Given the description of an element on the screen output the (x, y) to click on. 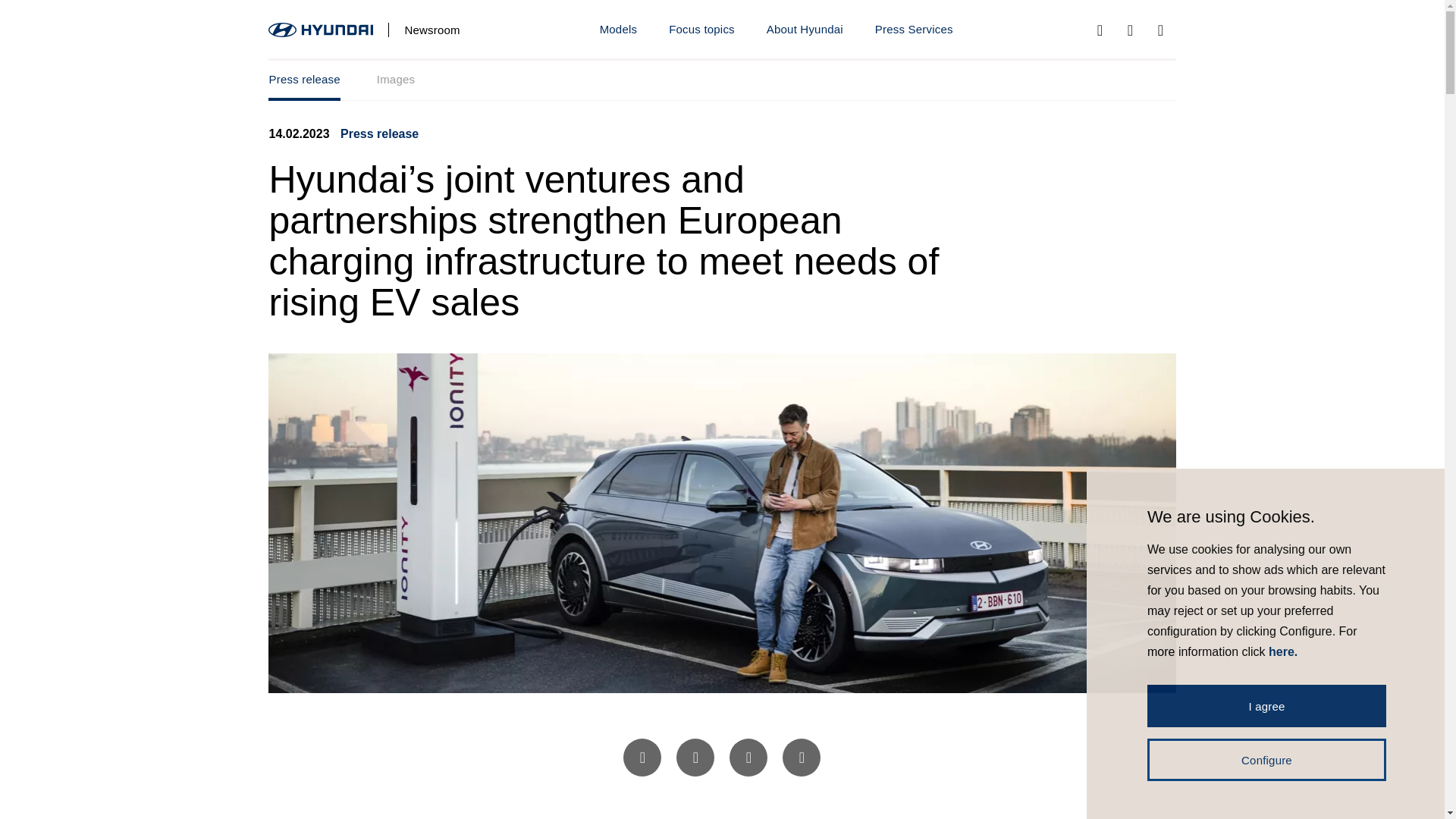
About Hyundai (720, 80)
Focus topics (805, 30)
